Given the description of an element on the screen output the (x, y) to click on. 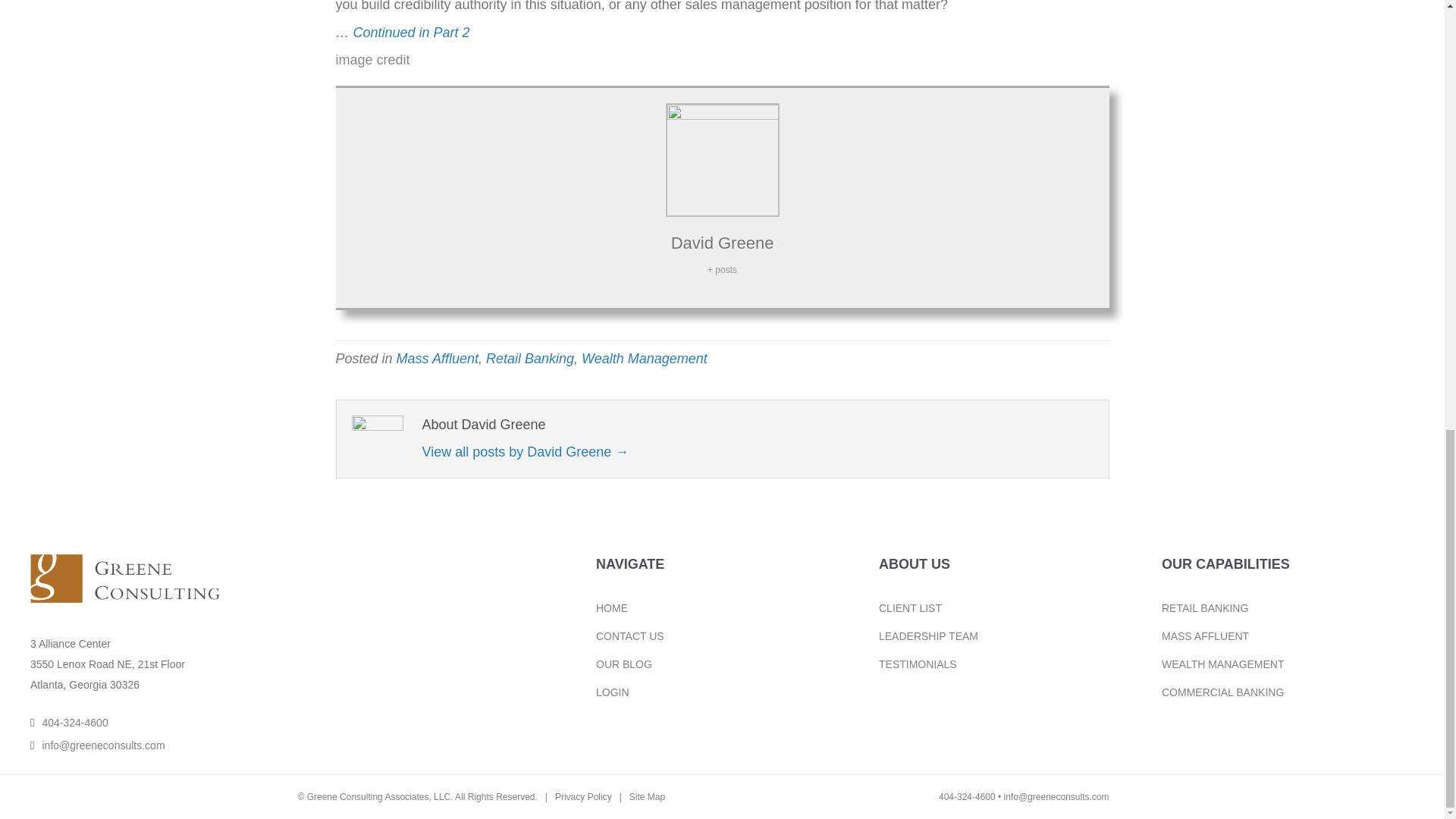
CONTACT US (629, 635)
TESTIMONIALS (917, 663)
image credit (371, 59)
Retail Banking (529, 358)
LEADERSHIP TEAM (928, 635)
HOME (611, 607)
Mass Affluent (437, 358)
LOGIN (611, 691)
David Greene (722, 242)
footer-logo (124, 578)
